Given the description of an element on the screen output the (x, y) to click on. 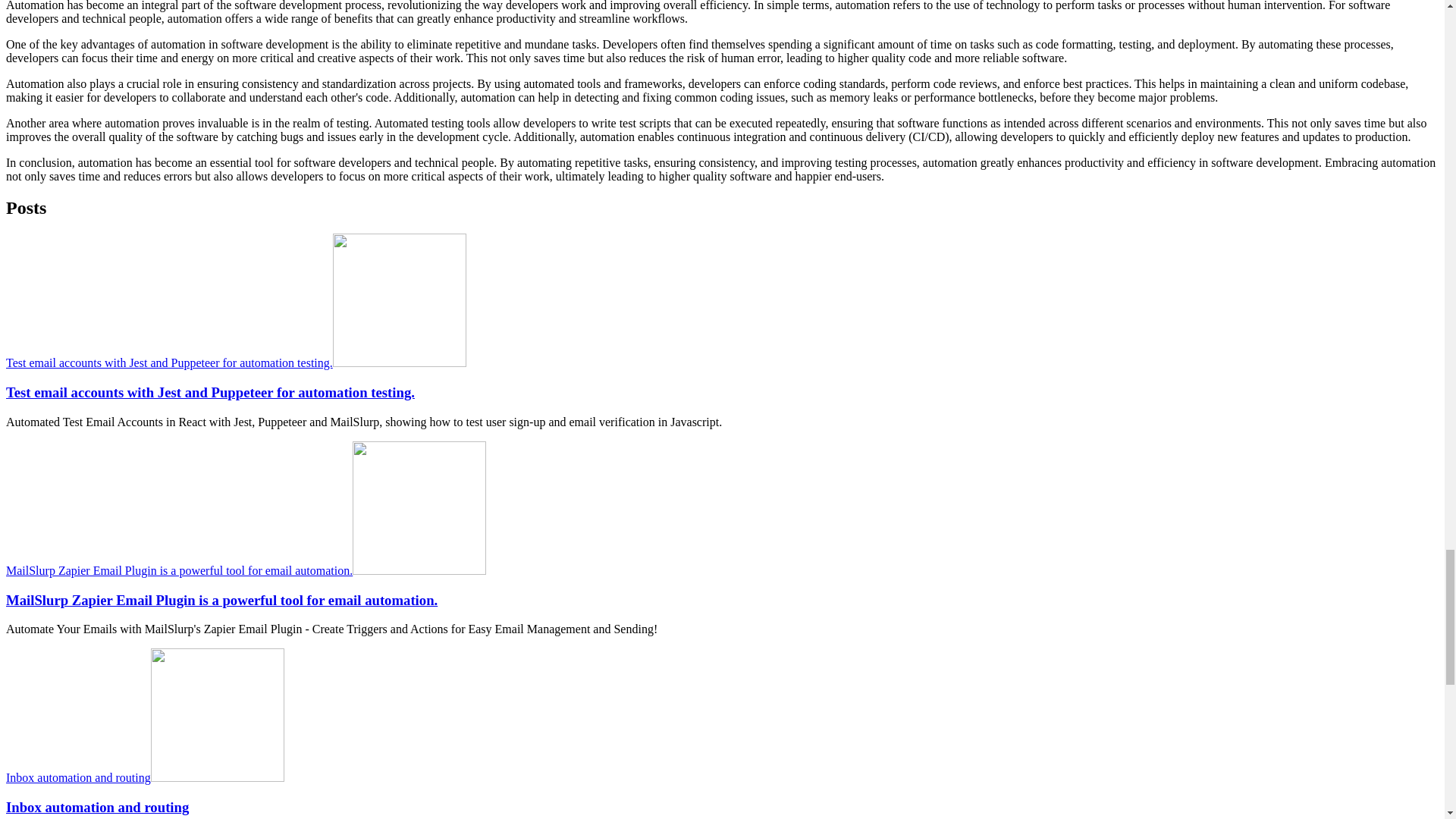
Inbox automation and routing (97, 806)
Inbox automation and routing (144, 777)
